Given the description of an element on the screen output the (x, y) to click on. 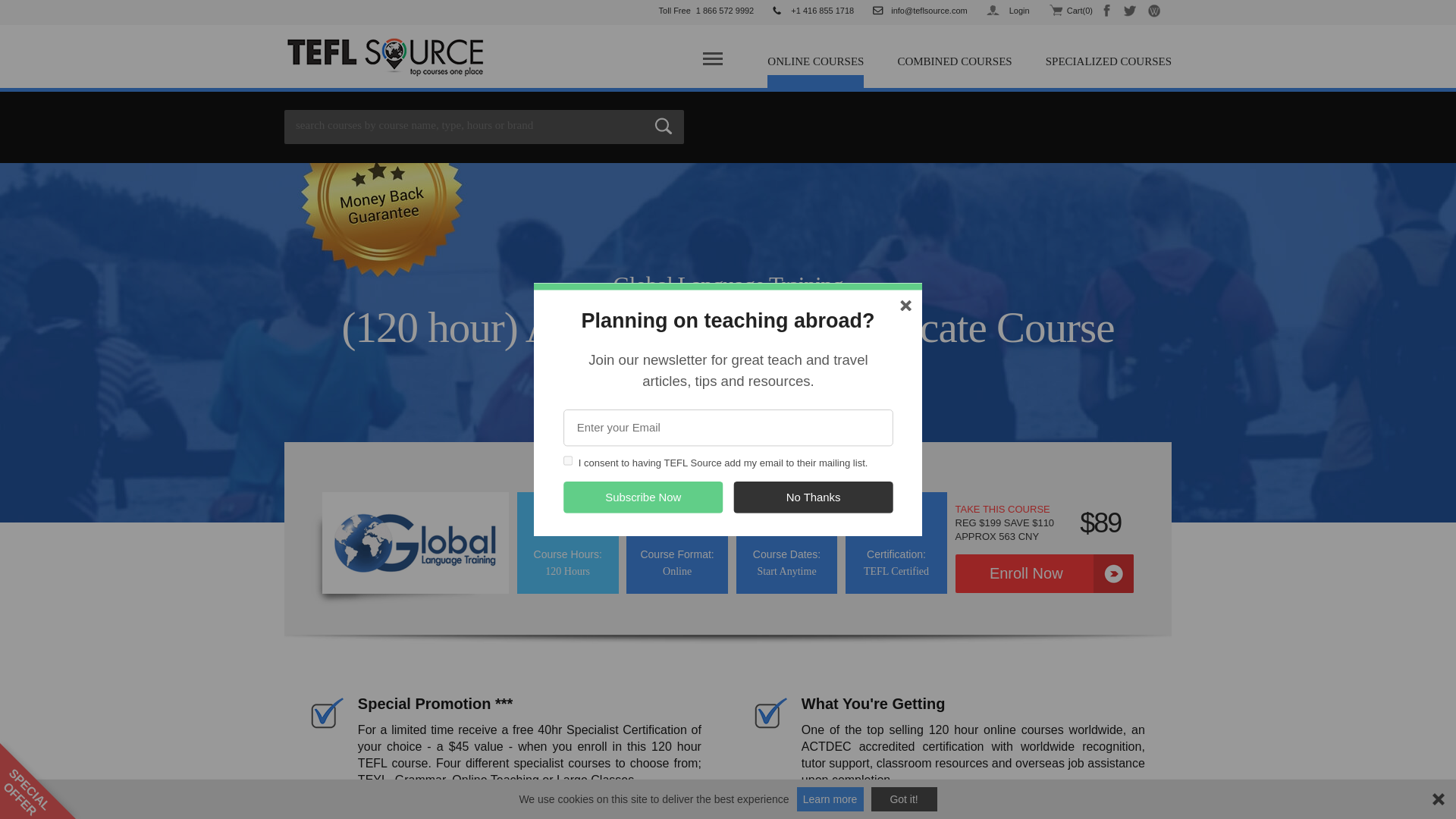
Learn more (829, 799)
Online Courses (815, 67)
SPECIALIZED COURSES (1108, 61)
on (568, 460)
COMBINED COURSES (953, 61)
menu (711, 60)
Combined Courses (953, 61)
ONLINE COURSES (815, 67)
Got it! (903, 799)
Enroll Now (1044, 573)
Specialized Courses (1108, 61)
Global Language Training (415, 542)
Login (1016, 10)
